Given the description of an element on the screen output the (x, y) to click on. 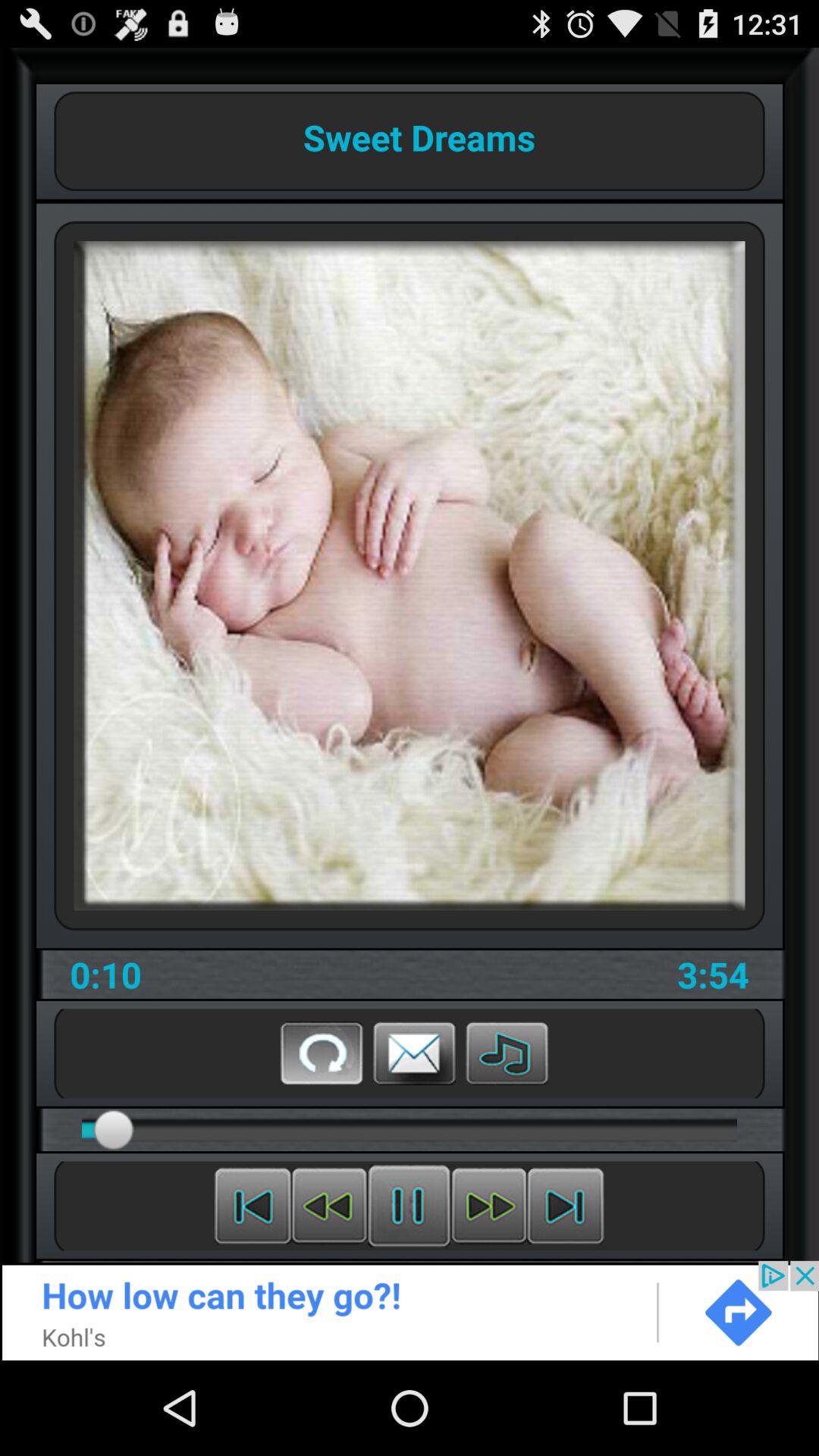
fast forward lullaby (488, 1205)
